Given the description of an element on the screen output the (x, y) to click on. 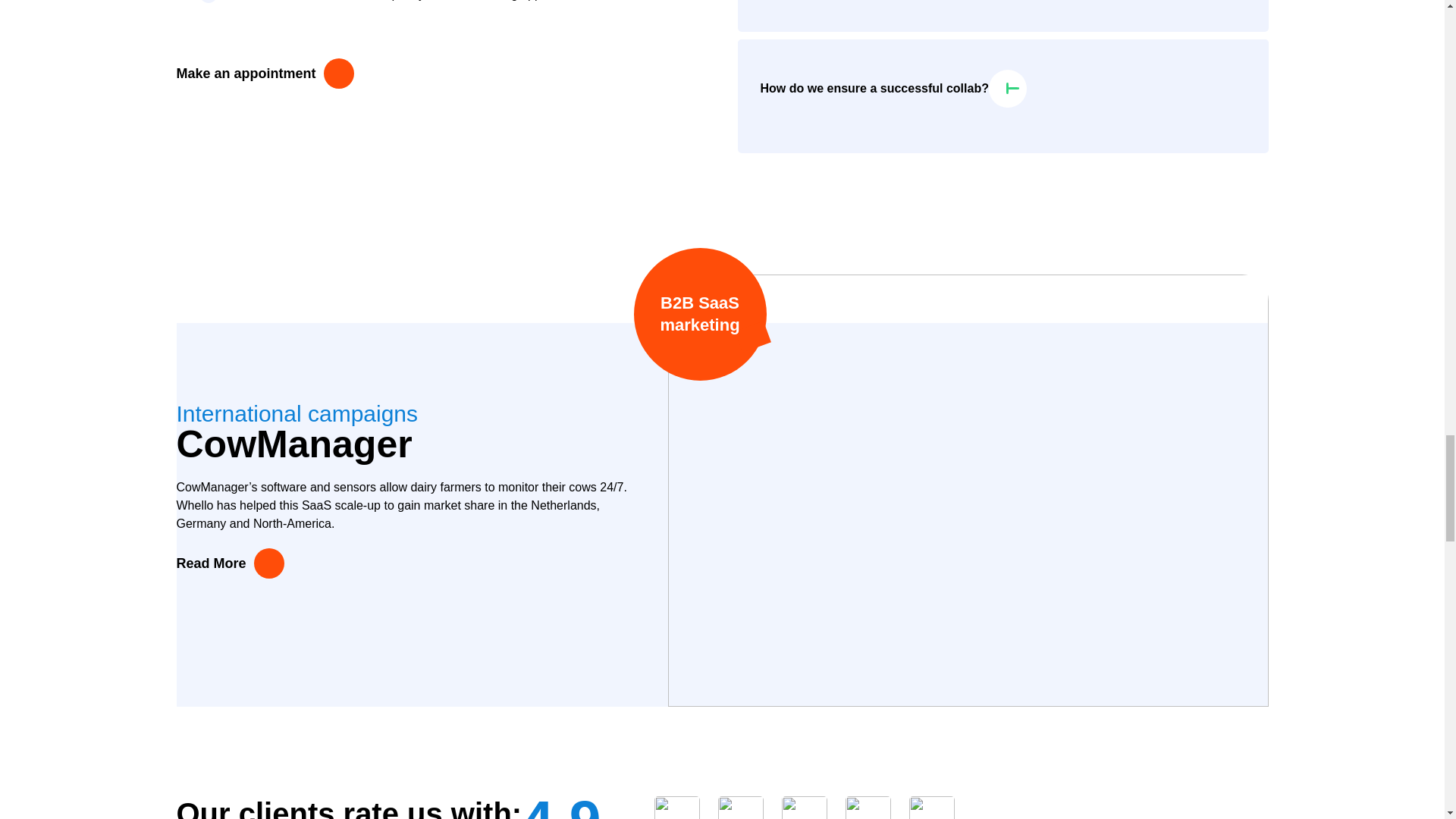
Make an appointment (264, 73)
How do we help brands grow in Europe? (1002, 8)
How do we ensure a successful collab? (1002, 88)
Read More (229, 562)
